Given the description of an element on the screen output the (x, y) to click on. 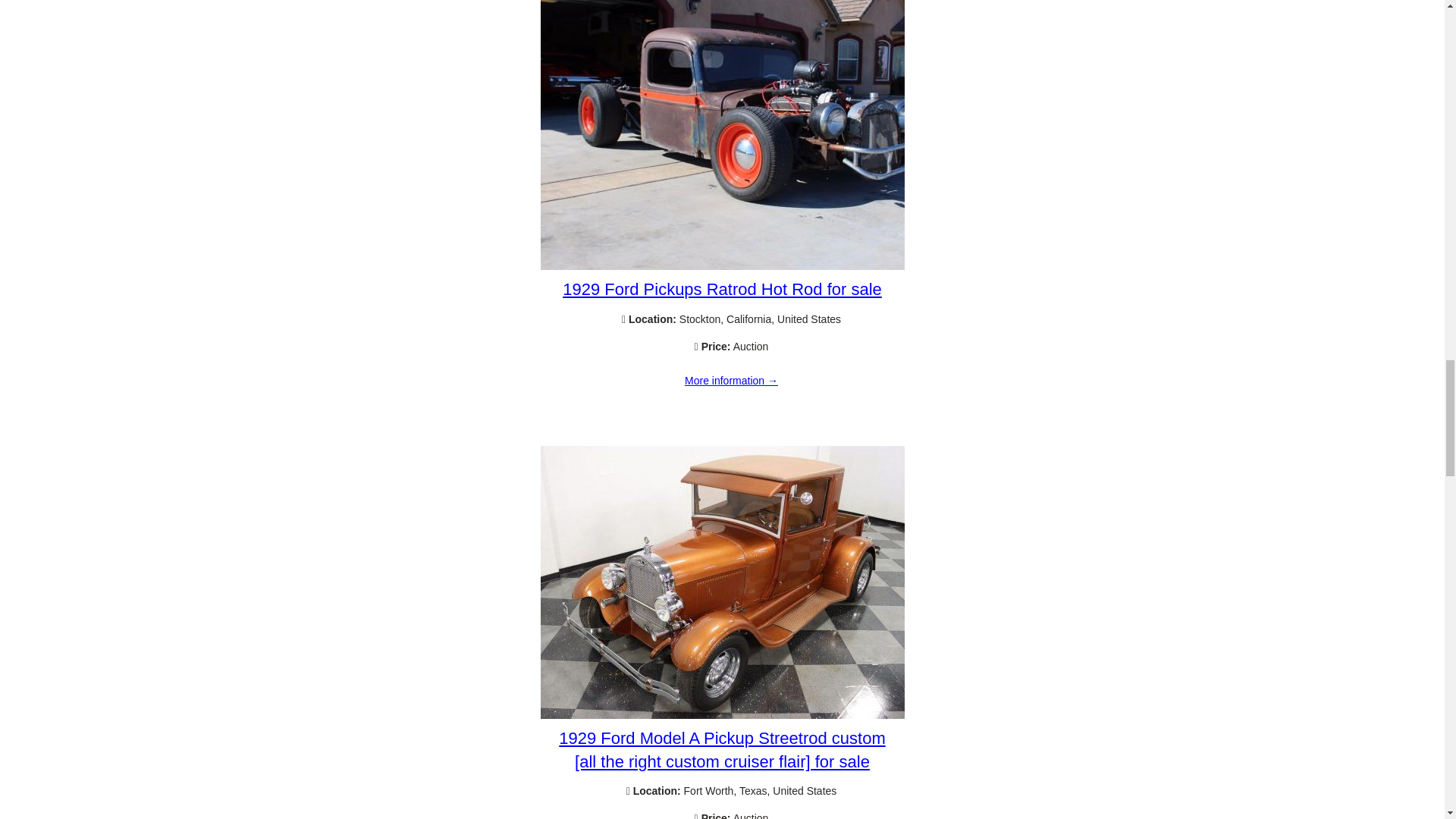
1929 Ford Pickups Ratrod Hot Rod for sale (722, 265)
1929 Ford Pickups Ratrod Hot Rod for sale (722, 289)
1929 Ford Pickups Ratrod Hot Rod for sale (731, 380)
